Given the description of an element on the screen output the (x, y) to click on. 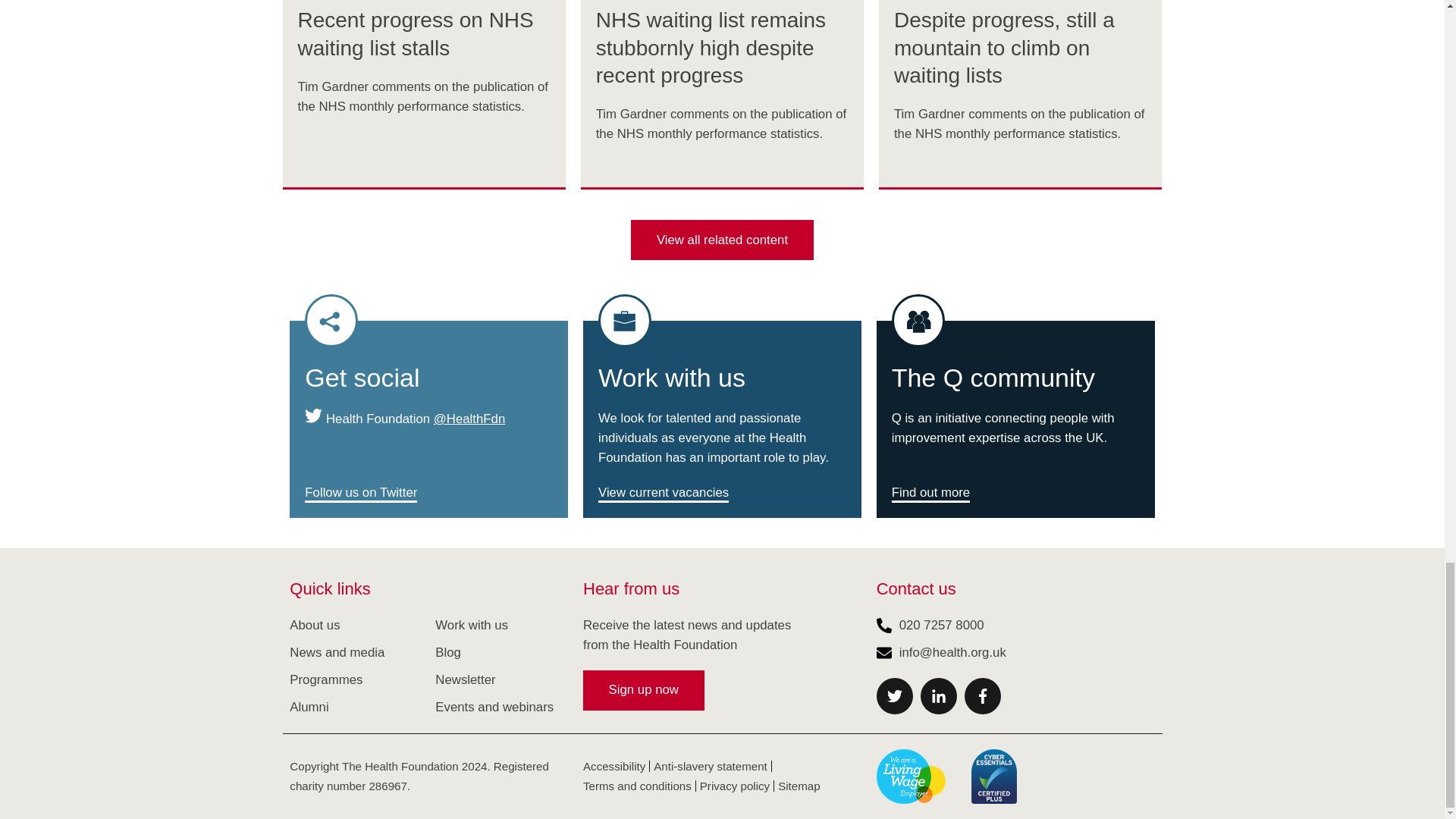
About the Alumni (309, 707)
